Given the description of an element on the screen output the (x, y) to click on. 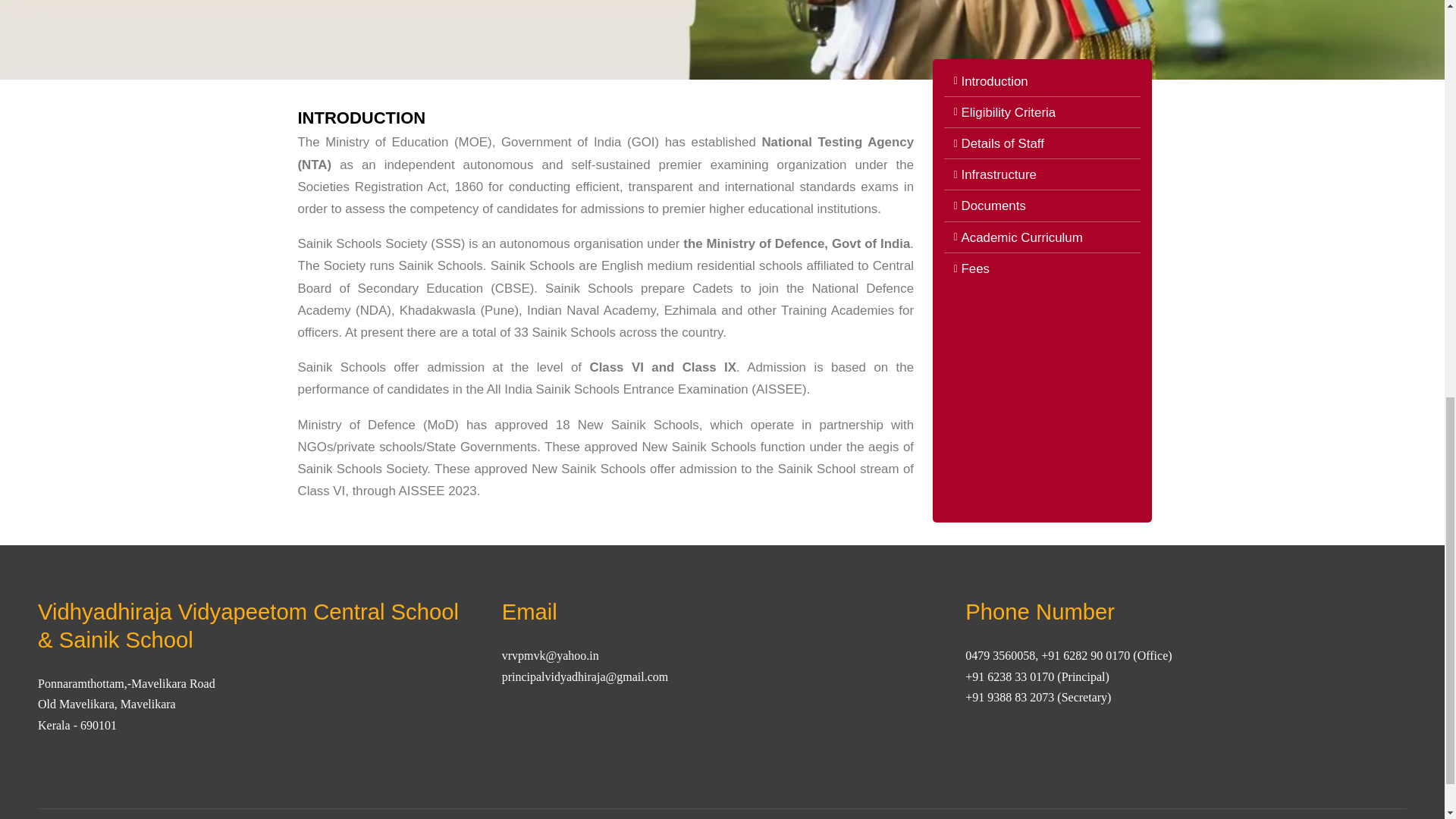
Infrastructure (1041, 174)
Details of Staff (1041, 143)
Documents (1041, 205)
Introduction (1041, 81)
Eligibility Criteria (1041, 112)
Fees (1041, 268)
Academic Curriculum (1041, 237)
